Given the description of an element on the screen output the (x, y) to click on. 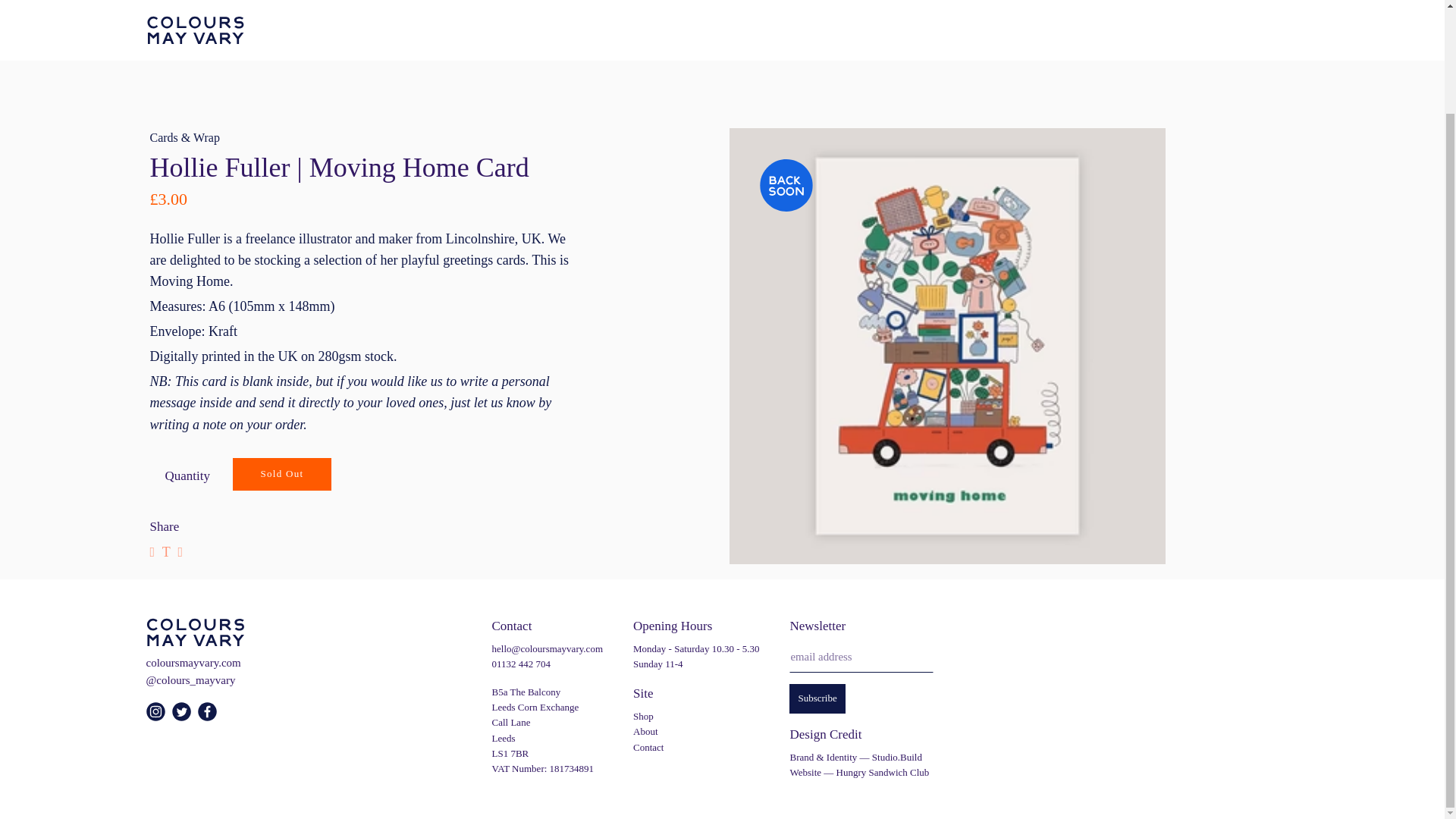
Studio Arhoj (582, 44)
Sold Out (281, 473)
All (158, 11)
Mini Stories By Scout Editions (437, 44)
Studio Arhoj (852, 11)
Subscribe (816, 697)
Homeware (364, 11)
Apparel and Accessories (486, 11)
Colours May Vary on Twitter (183, 716)
Magazines (281, 11)
